Given the description of an element on the screen output the (x, y) to click on. 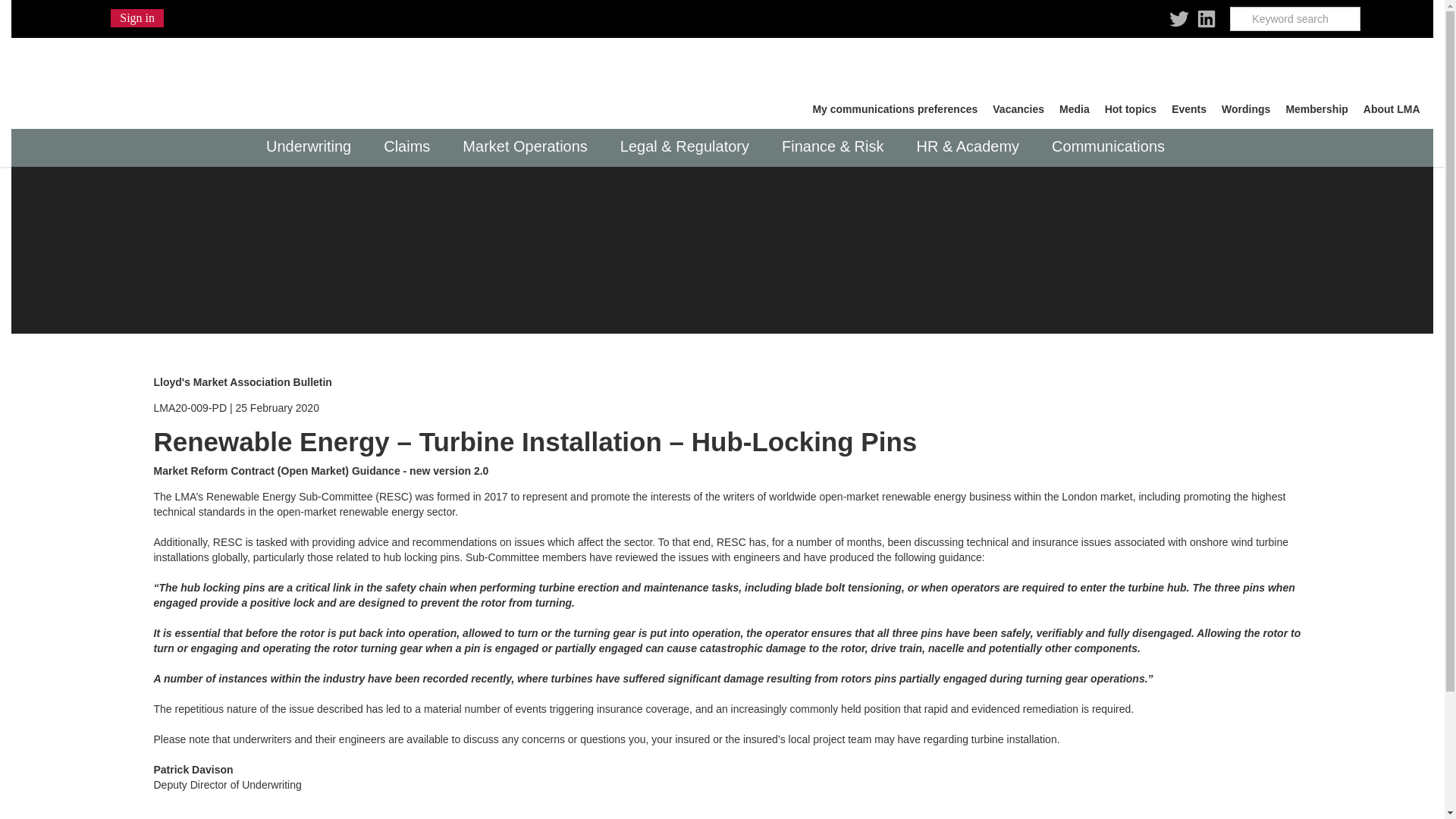
Hot topics (1130, 109)
Underwriting (312, 146)
Market Operations (529, 146)
Claims (410, 146)
Keyword search (1294, 18)
Media (1074, 109)
iMIS (162, 77)
My communications preferences (895, 109)
Events (1188, 109)
Home (162, 77)
